Given the description of an element on the screen output the (x, y) to click on. 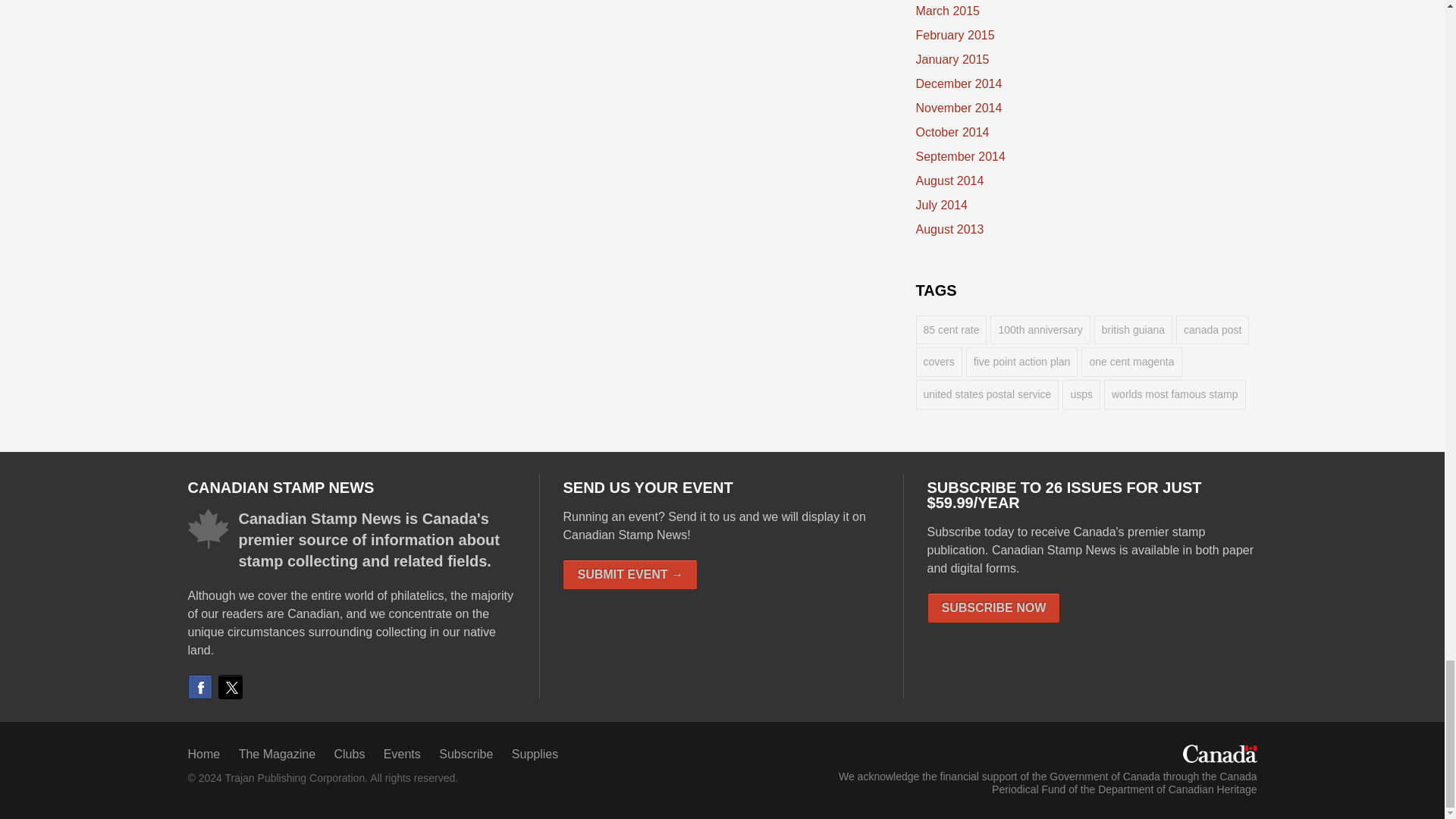
Submit an Event (629, 574)
